Given the description of an element on the screen output the (x, y) to click on. 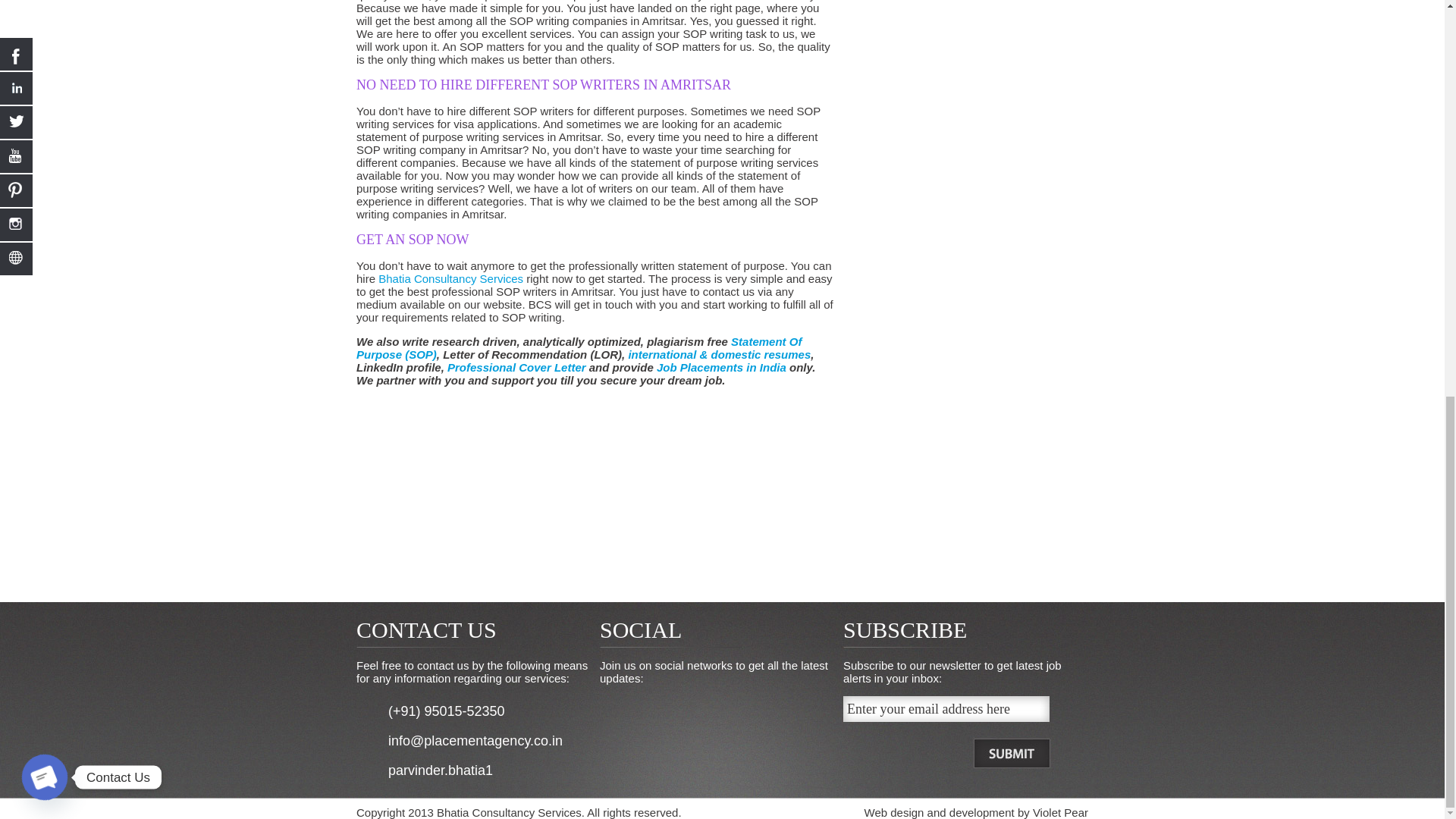
Bhatia Consultancy Services (450, 278)
Enter your email address here (946, 708)
parvinder.bhatia1 (440, 770)
Professional Cover Letter (516, 367)
Job Placements in India (721, 367)
